Given the description of an element on the screen output the (x, y) to click on. 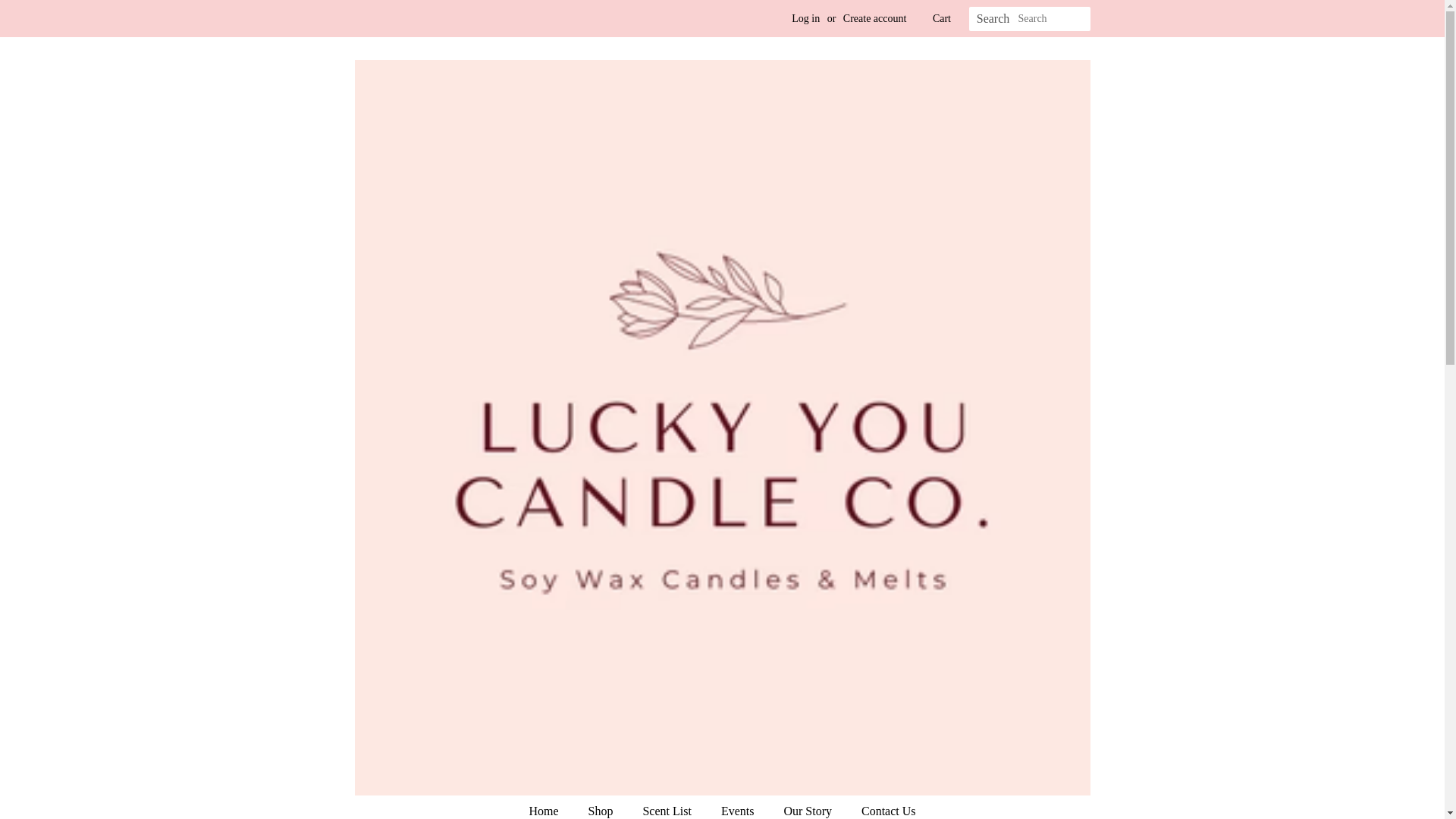
Scent List (668, 807)
Events (740, 807)
Search (993, 18)
Create account (875, 18)
Our Story (809, 807)
Cart (941, 18)
Home (550, 807)
Contact Us (882, 807)
Shop (602, 807)
Log in (805, 18)
